Given the description of an element on the screen output the (x, y) to click on. 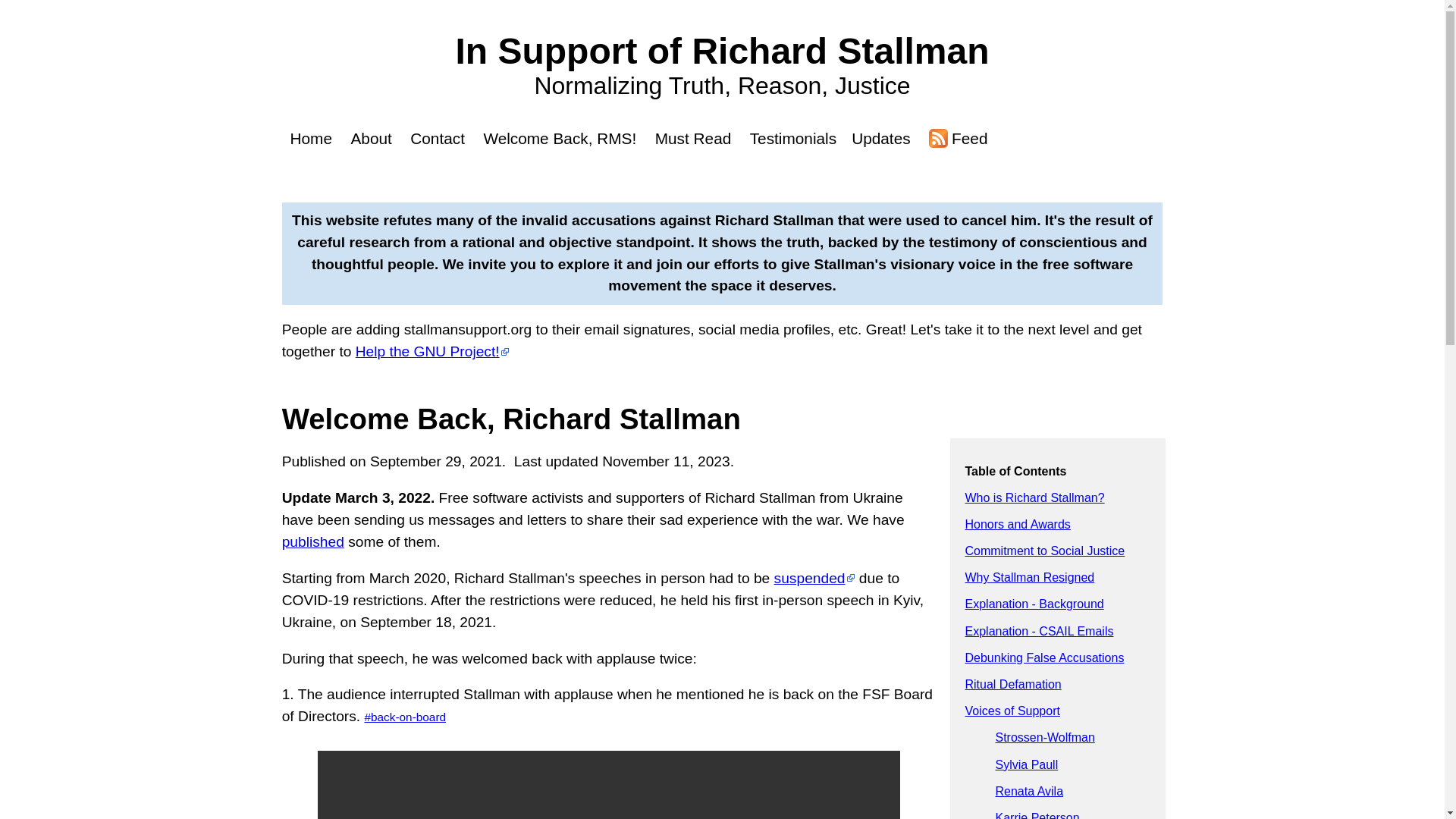
Explanation - Background (1033, 603)
Feed (957, 138)
Contact (437, 138)
Commitment to Social Justice (1043, 550)
Debunking False Accusations (1043, 657)
Help the GNU Project! (432, 351)
suspended (815, 578)
Home (310, 138)
Why Stallman Resigned (1028, 576)
About (370, 138)
